Given the description of an element on the screen output the (x, y) to click on. 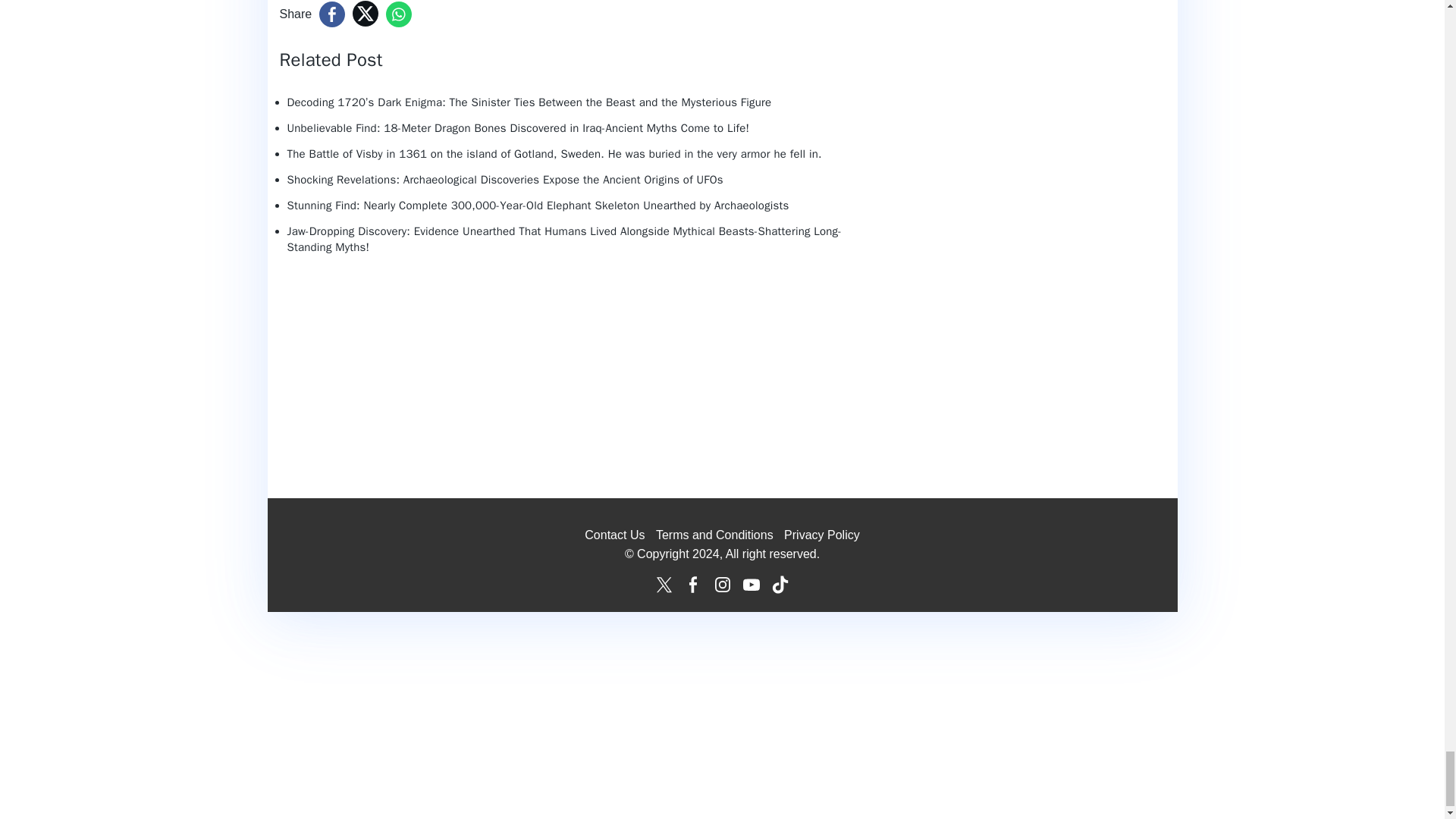
WhatsApp (398, 14)
Share  facebook (331, 14)
Terms and Conditions (714, 534)
Share  twitter (365, 13)
Contact Us (615, 534)
